Given the description of an element on the screen output the (x, y) to click on. 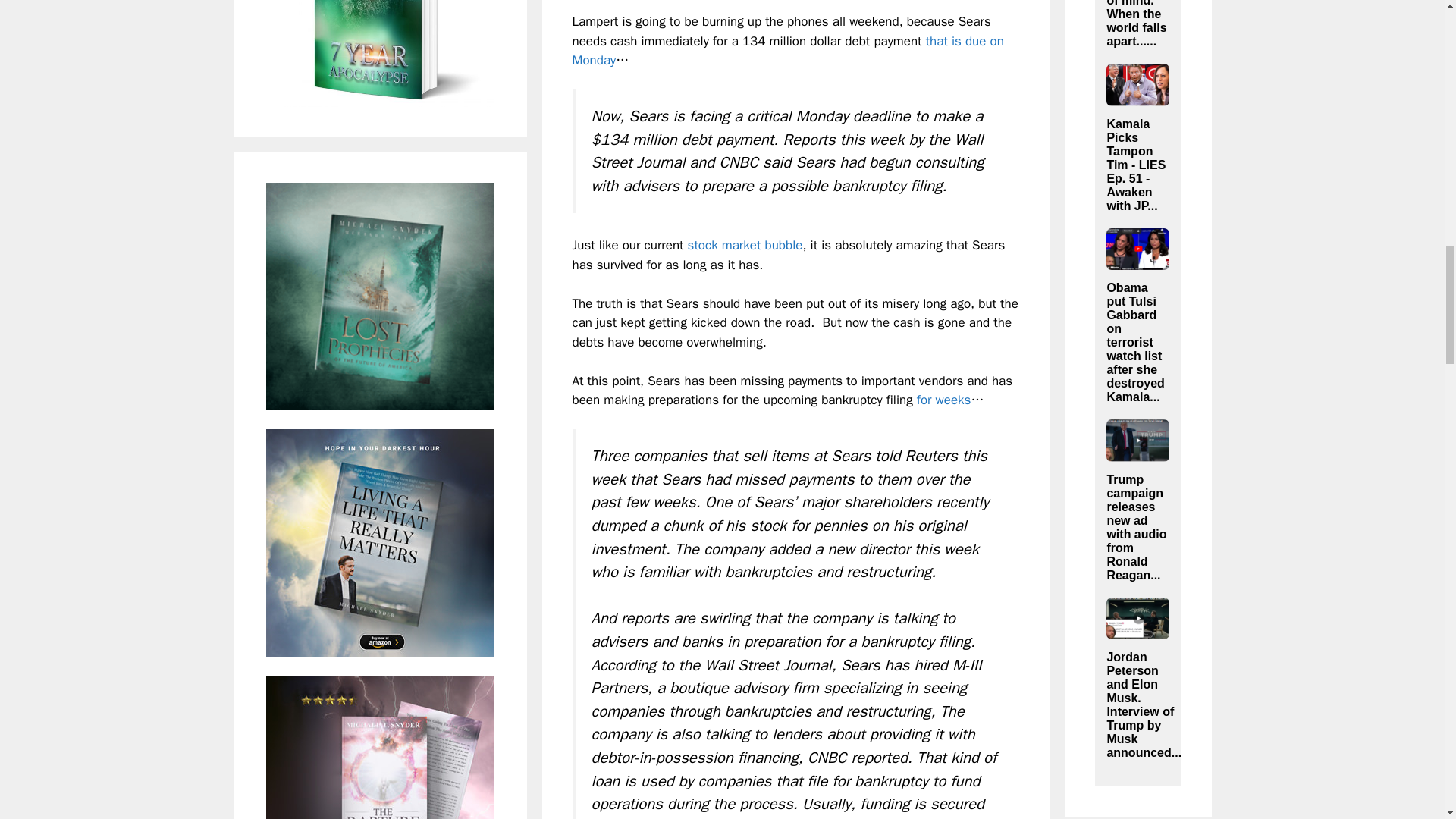
for weeks (944, 399)
that is due on Monday (787, 50)
that is due on Monday (787, 50)
stock market bubble (745, 245)
stock market bubble (745, 245)
for weeks (944, 399)
